Given the description of an element on the screen output the (x, y) to click on. 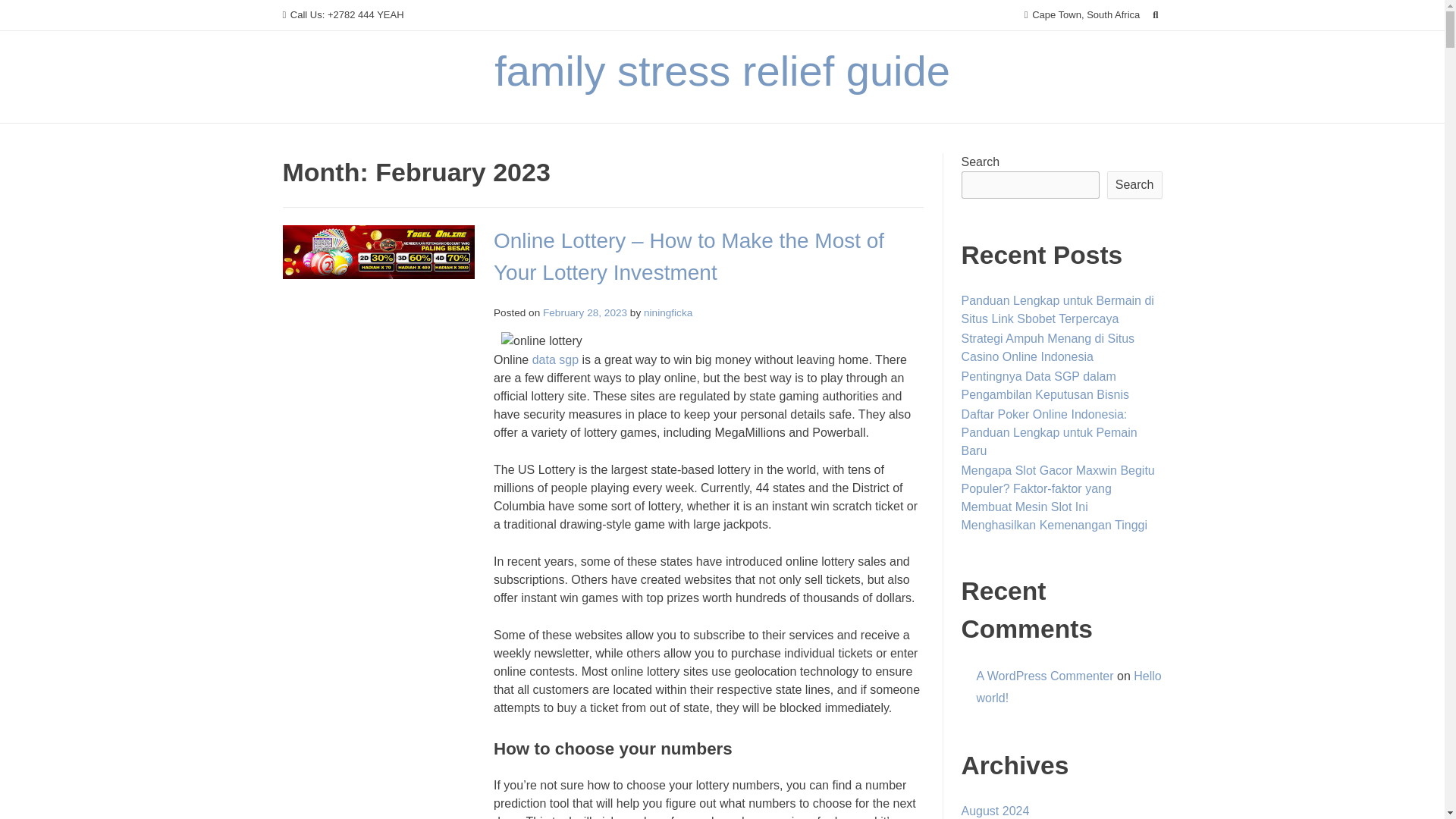
February 28, 2023 (585, 312)
data sgp (555, 359)
niningficka (668, 312)
family stress relief guide (722, 70)
Search (27, 13)
